Given the description of an element on the screen output the (x, y) to click on. 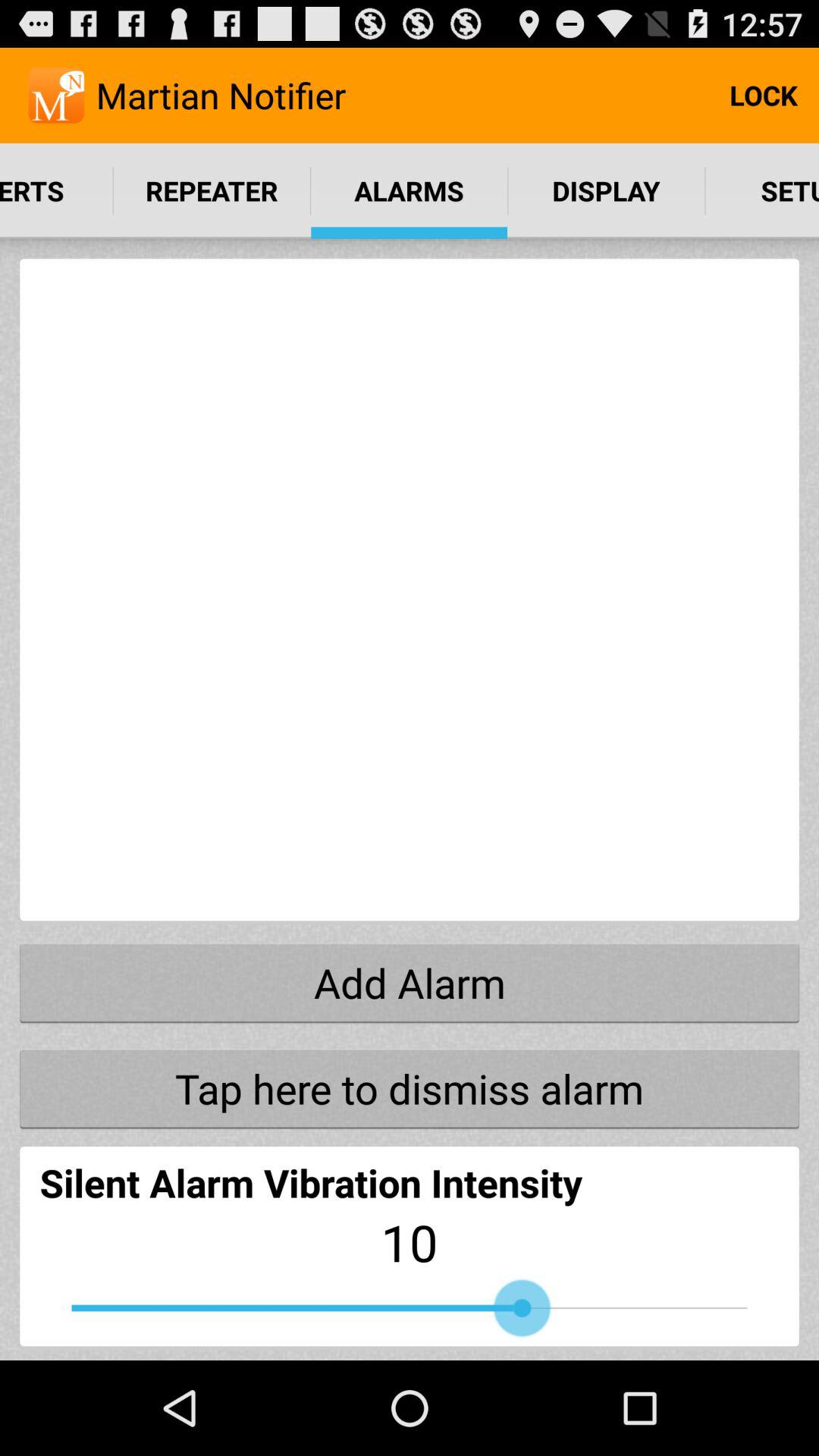
tap icon below the add alarm icon (409, 1088)
